Given the description of an element on the screen output the (x, y) to click on. 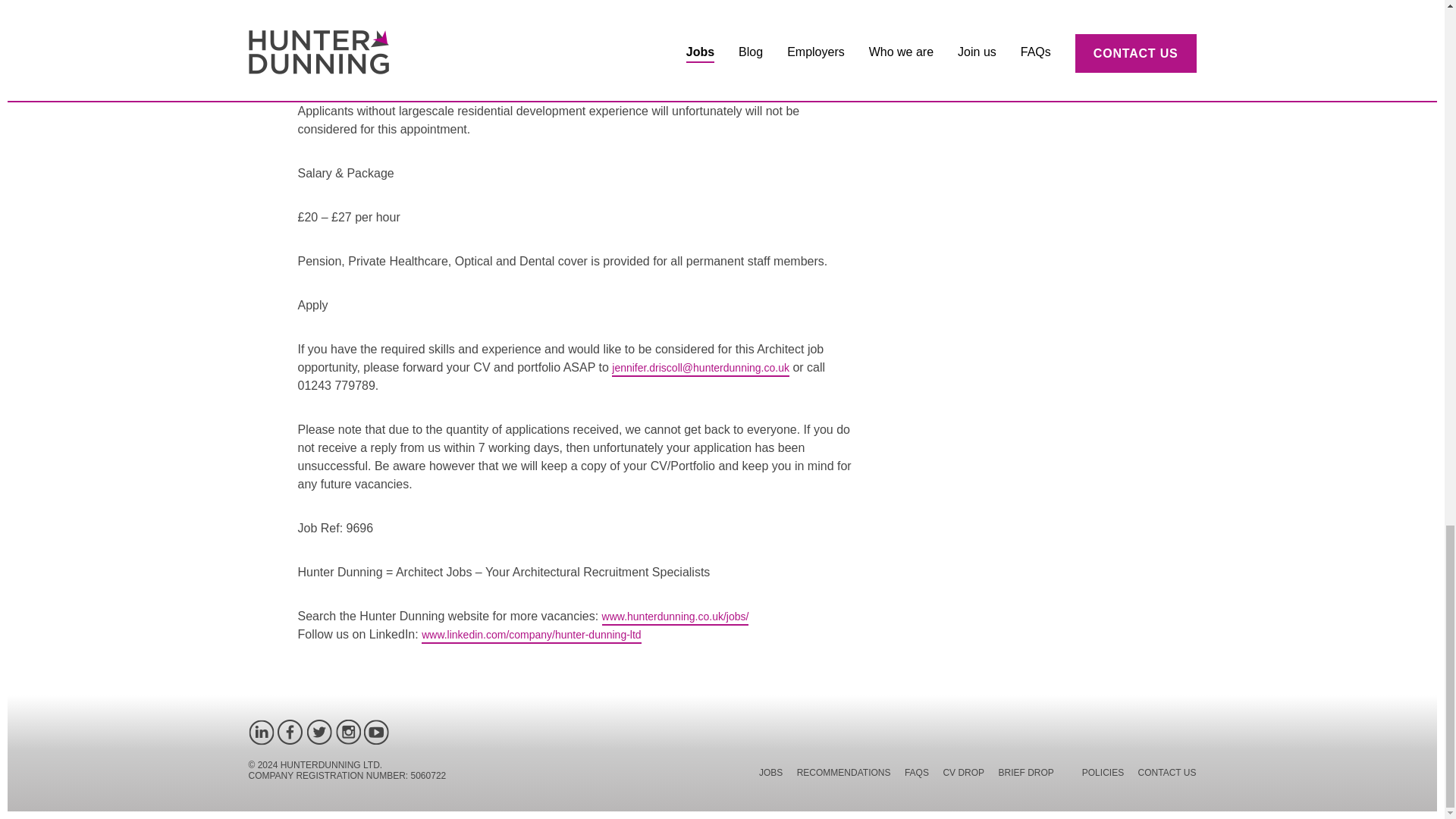
FAQS (916, 774)
JOBS (770, 774)
RECOMMENDATIONS (843, 774)
